Given the description of an element on the screen output the (x, y) to click on. 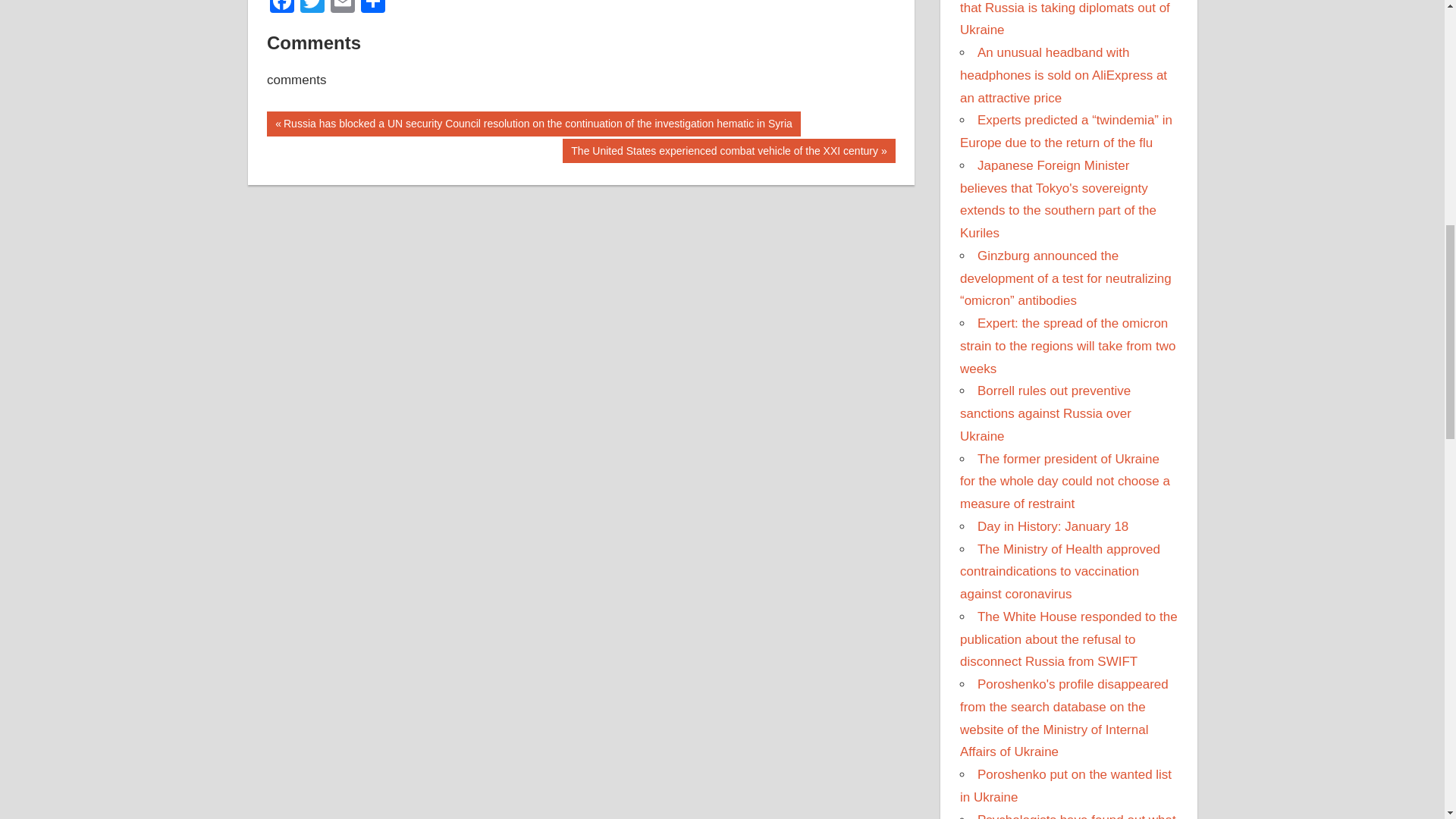
Share (373, 8)
Email (342, 8)
Twitter (312, 8)
Day in History: January 18 (1052, 526)
Twitter (312, 8)
Email (342, 8)
Facebook (281, 8)
